Given the description of an element on the screen output the (x, y) to click on. 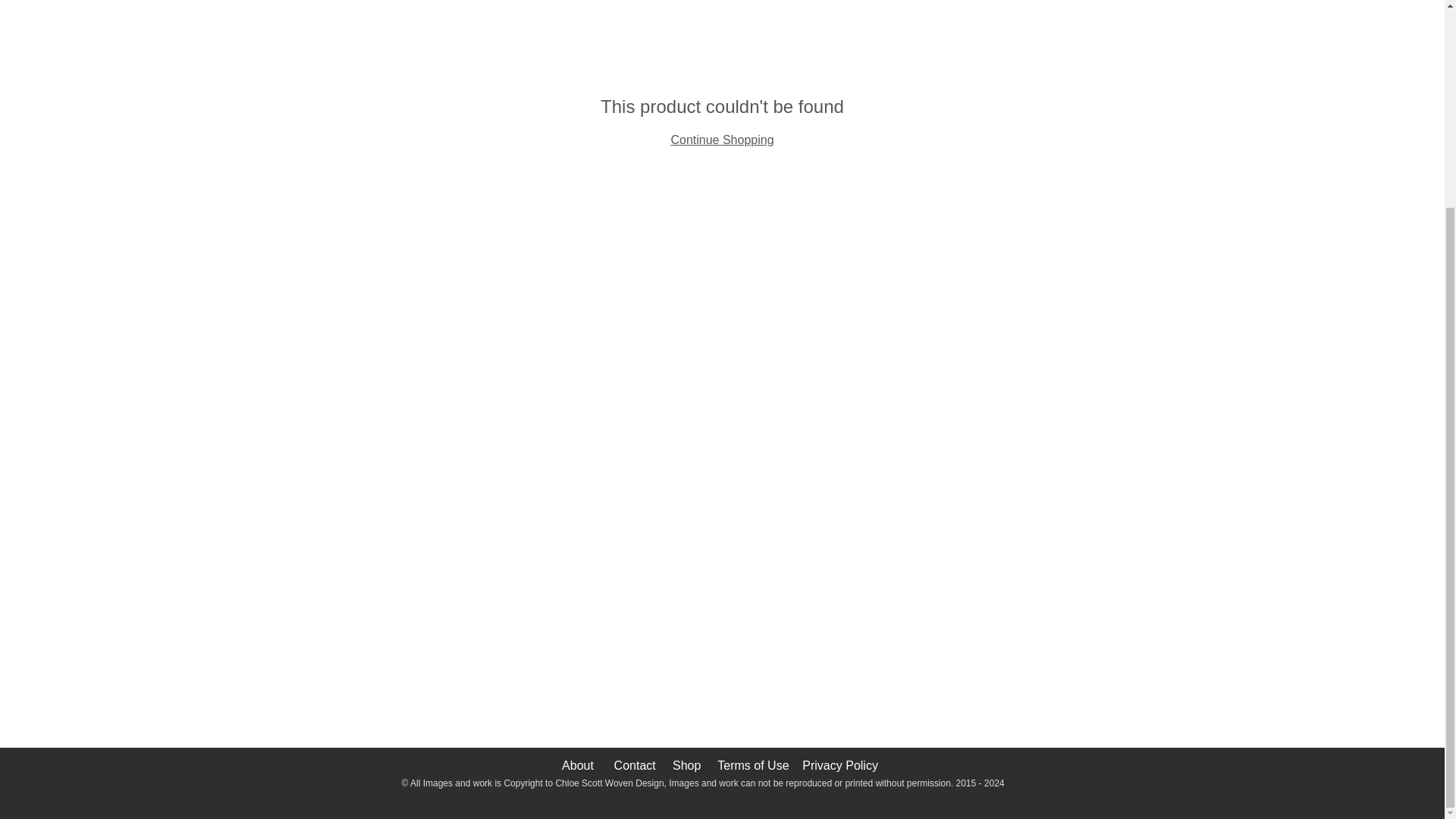
Privacy Policy (839, 765)
About (578, 765)
Continue Shopping (721, 139)
Contact (635, 765)
Shop (686, 765)
 Terms of Use (751, 765)
